Given the description of an element on the screen output the (x, y) to click on. 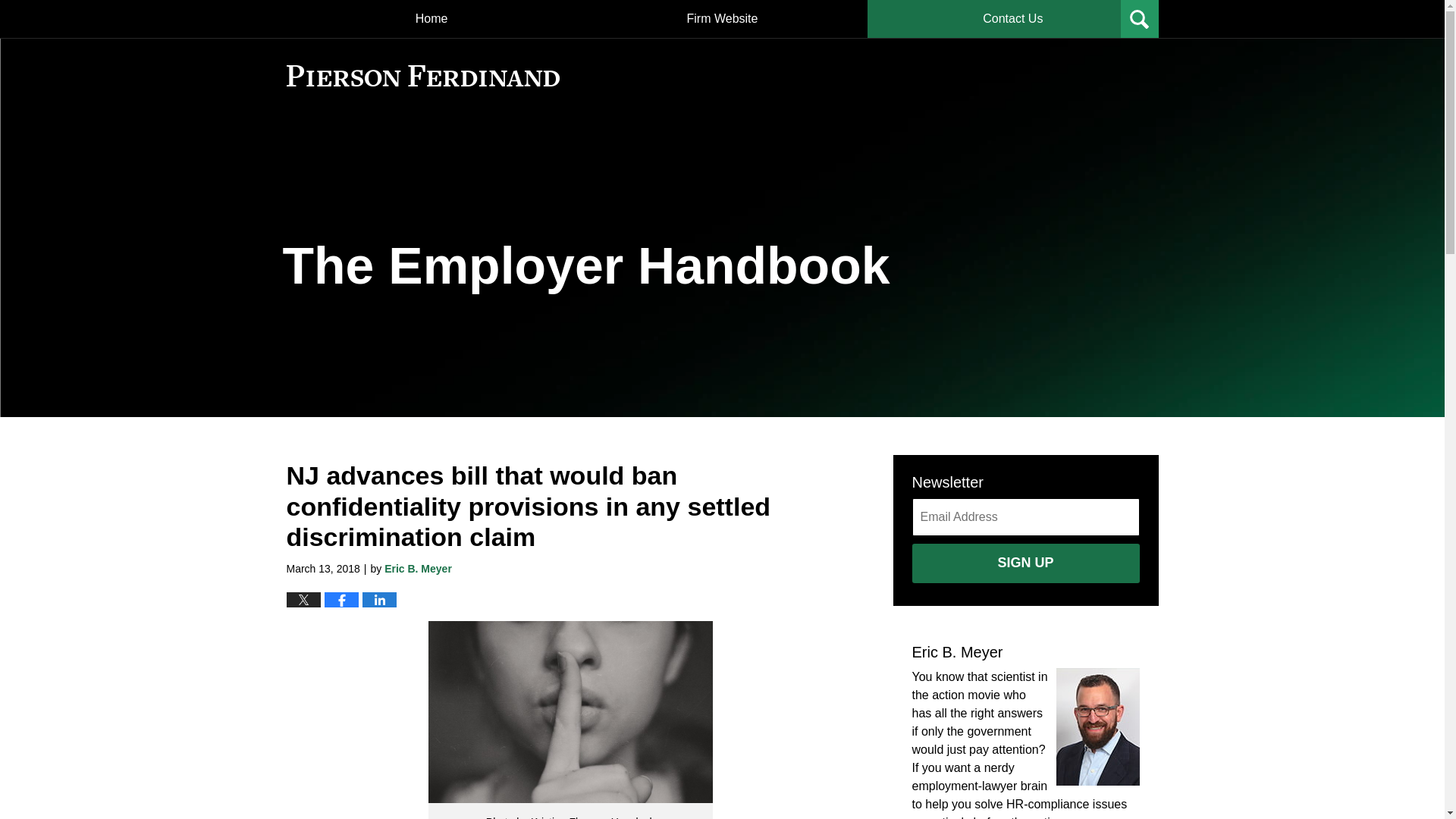
The Employer Handbook (585, 265)
Home (431, 18)
The Employer Handbook Blog (422, 75)
Eric B. Meyer (417, 568)
Contact Us (1012, 18)
SIGN UP (1024, 563)
Firm Website (721, 18)
